Given the description of an element on the screen output the (x, y) to click on. 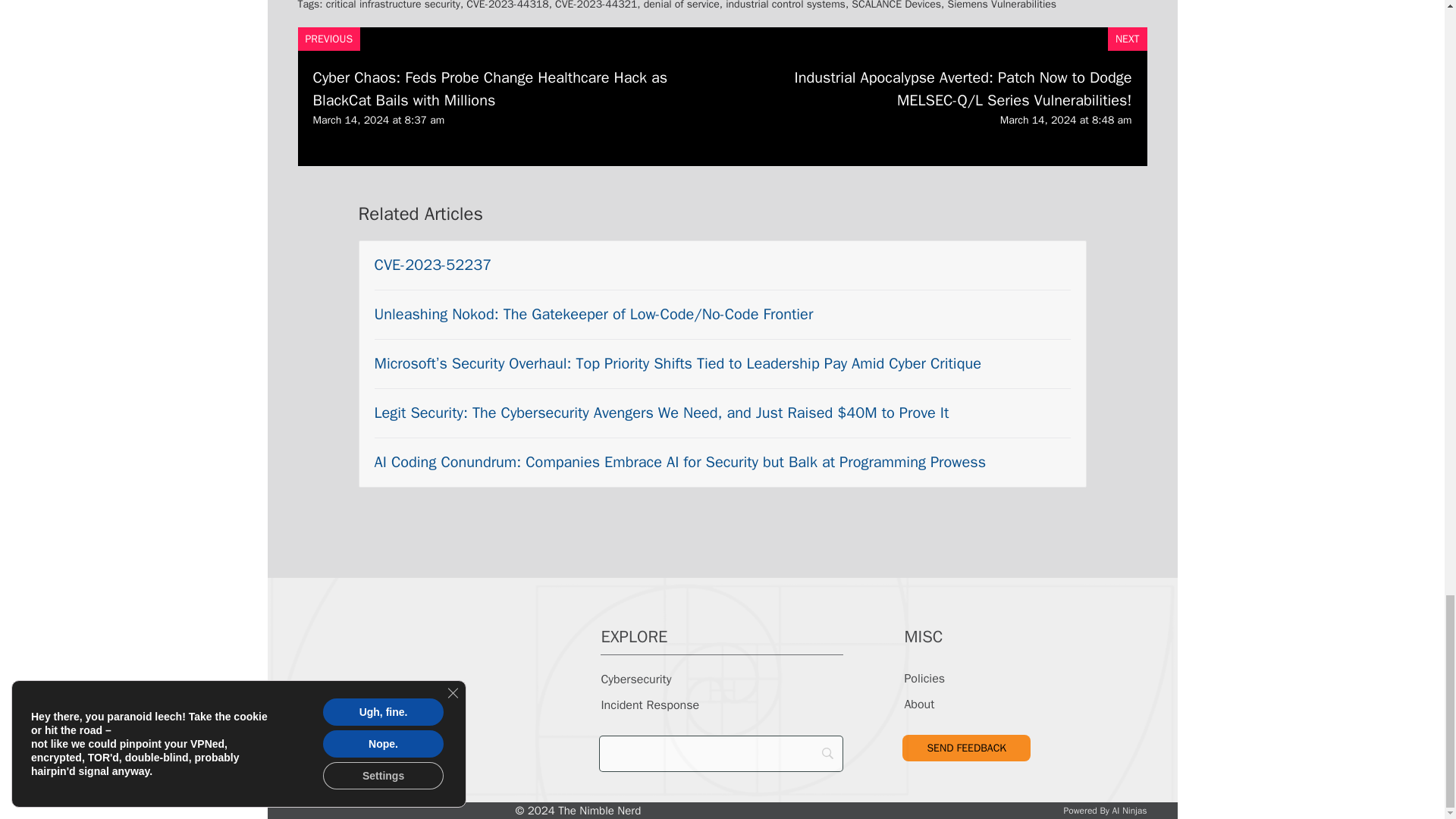
Policies (924, 678)
Incident Response (648, 704)
SEND FEEDBACK (966, 747)
CVE-2023-52237 (433, 264)
Cybersecurity (635, 679)
About (919, 703)
